Given the description of an element on the screen output the (x, y) to click on. 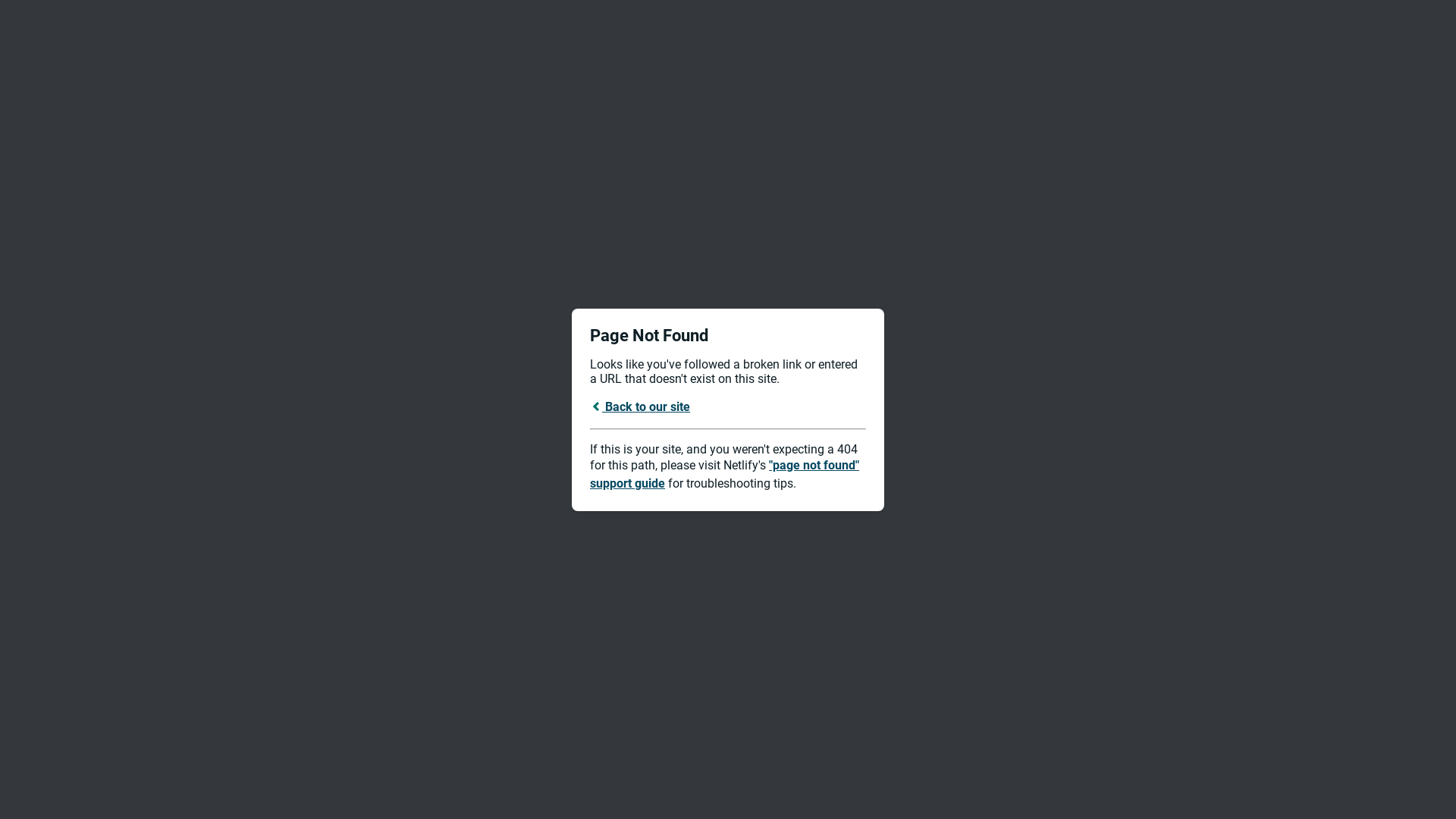
"page not found" support guide Element type: text (724, 474)
Back to our site Element type: text (639, 405)
